Given the description of an element on the screen output the (x, y) to click on. 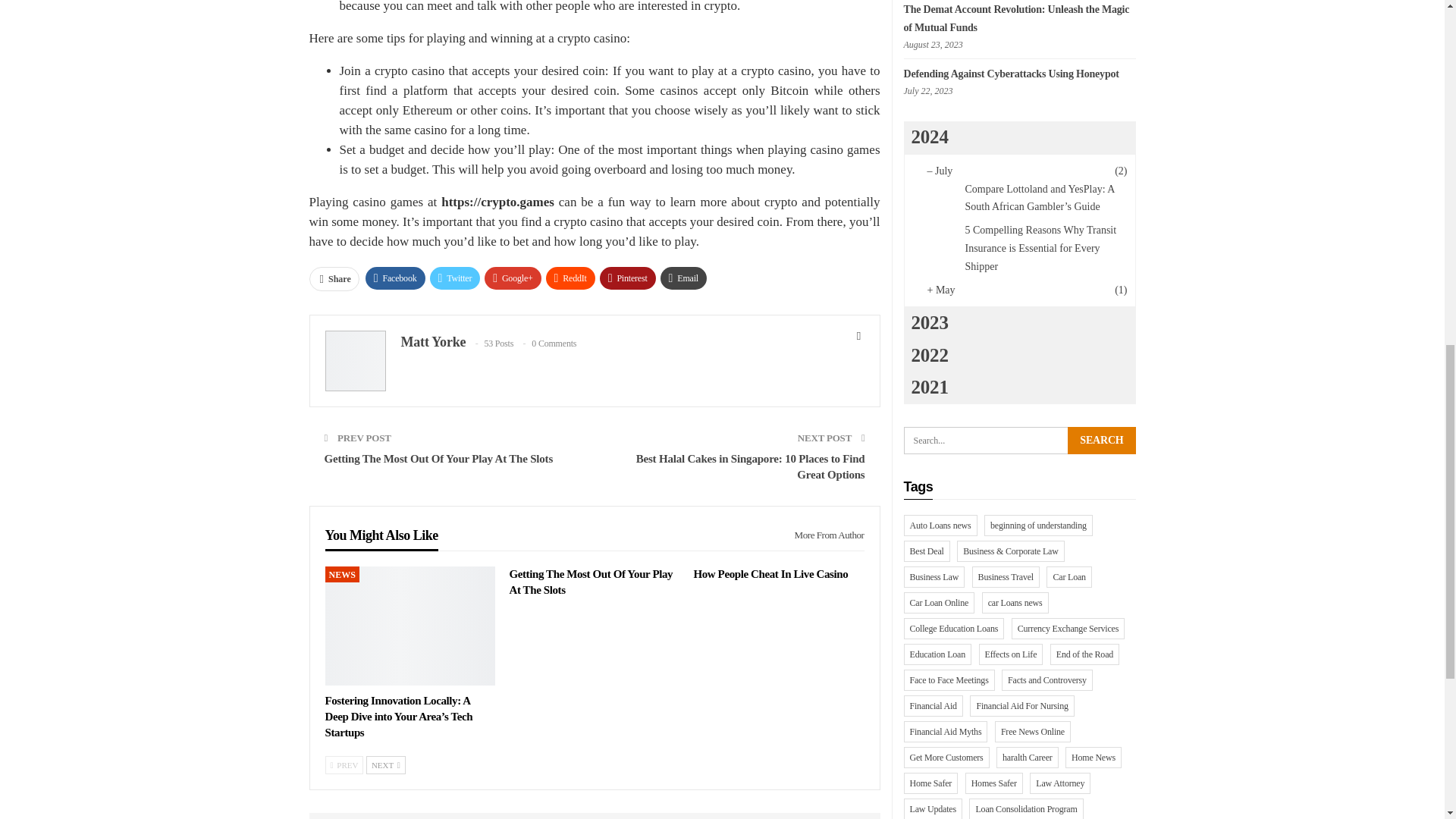
Search (1101, 440)
Email (683, 277)
ReddIt (570, 277)
Pinterest (627, 277)
Next (386, 764)
Twitter (454, 277)
Getting The Most Out Of Your Play At The Slots (590, 582)
Search (1101, 440)
Previous (343, 764)
Matt Yorke (432, 341)
Facebook (395, 277)
How People Cheat In Live Casino (770, 573)
